Given the description of an element on the screen output the (x, y) to click on. 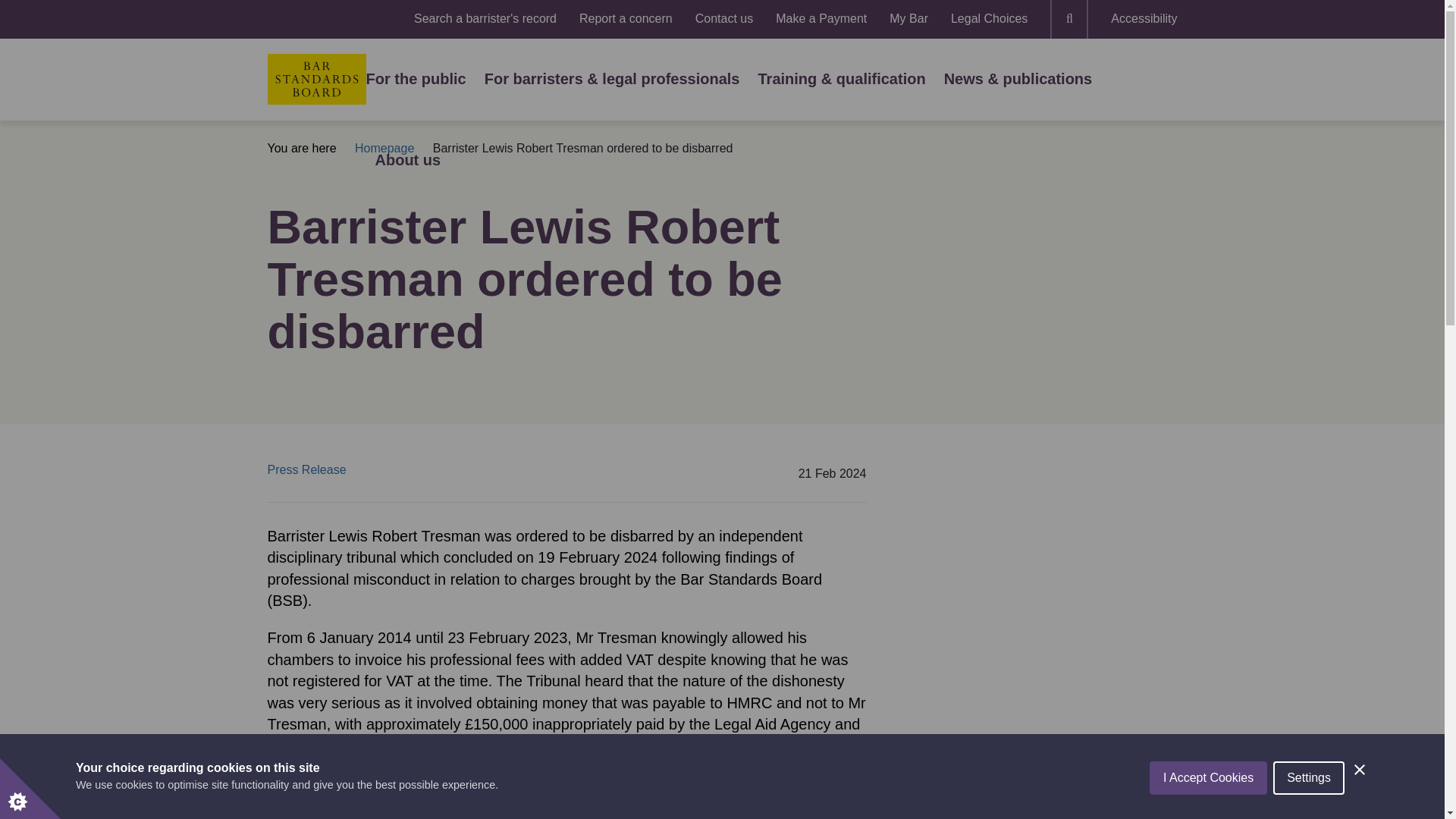
Settings (1307, 808)
Search a barrister's record (484, 19)
Contact us (723, 19)
Report a concern (625, 19)
Make a Payment (821, 19)
Make a Payment (821, 19)
Report a concern (625, 19)
For the public (415, 79)
Accessibility (1143, 19)
My Bar (908, 19)
